Given the description of an element on the screen output the (x, y) to click on. 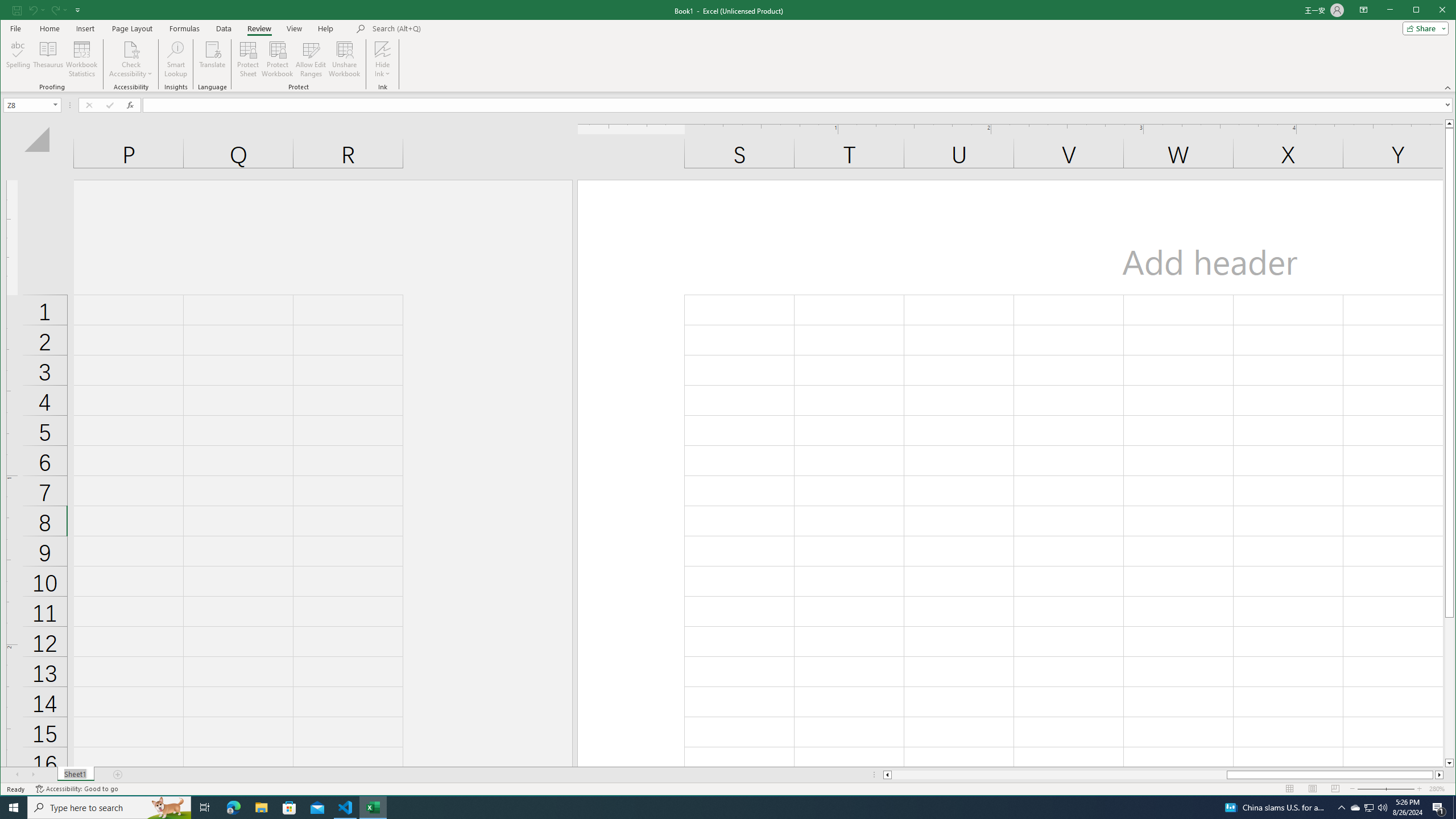
Translate (212, 59)
Allow Edit Ranges (1355, 807)
Search highlights icon opens search home window (310, 59)
Thesaurus... (167, 807)
